Given the description of an element on the screen output the (x, y) to click on. 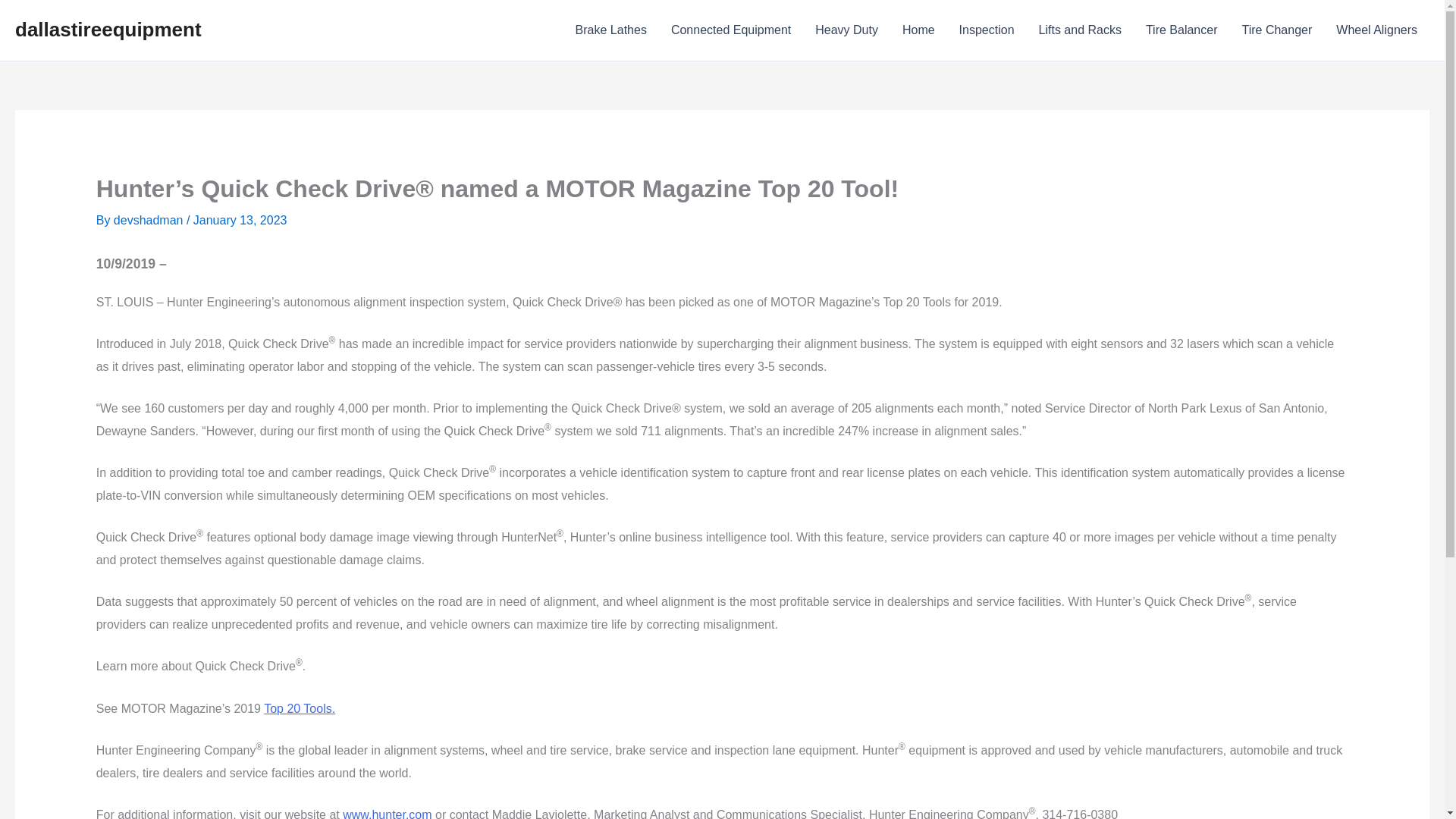
View all posts by devshadman (149, 219)
dallastireequipment (108, 29)
Home (918, 30)
devshadman (149, 219)
Wheel Aligners (1376, 30)
Connected Equipment (731, 30)
Brake Lathes (611, 30)
Inspection (986, 30)
Tire Balancer (1182, 30)
Lifts and Racks (1080, 30)
